Given the description of an element on the screen output the (x, y) to click on. 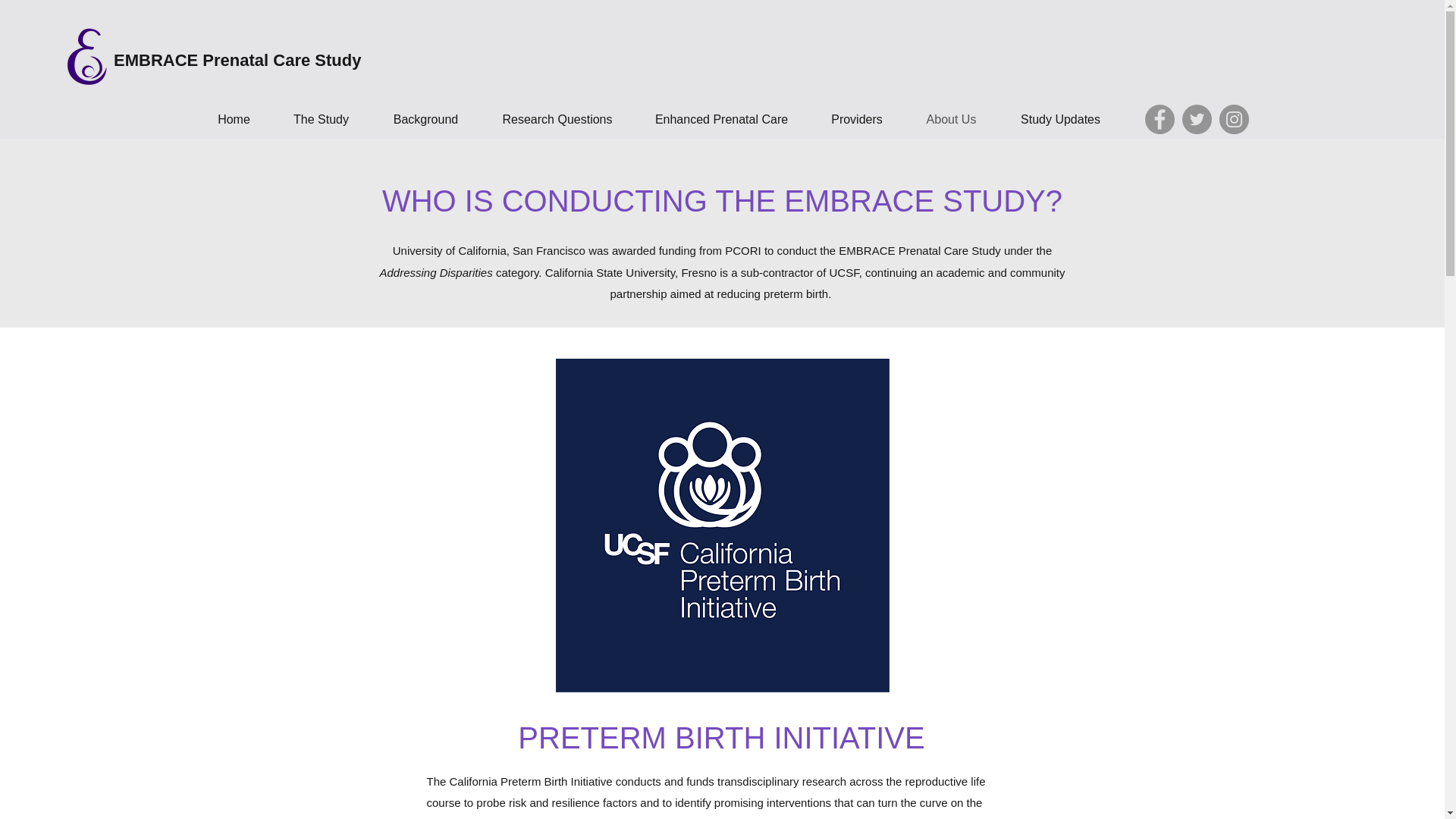
The Study (319, 119)
Enhanced Prenatal Care (721, 119)
Study Updates (1059, 119)
Providers (856, 119)
Background (424, 119)
Home (232, 119)
About Us (950, 119)
Research Questions (556, 119)
